Given the description of an element on the screen output the (x, y) to click on. 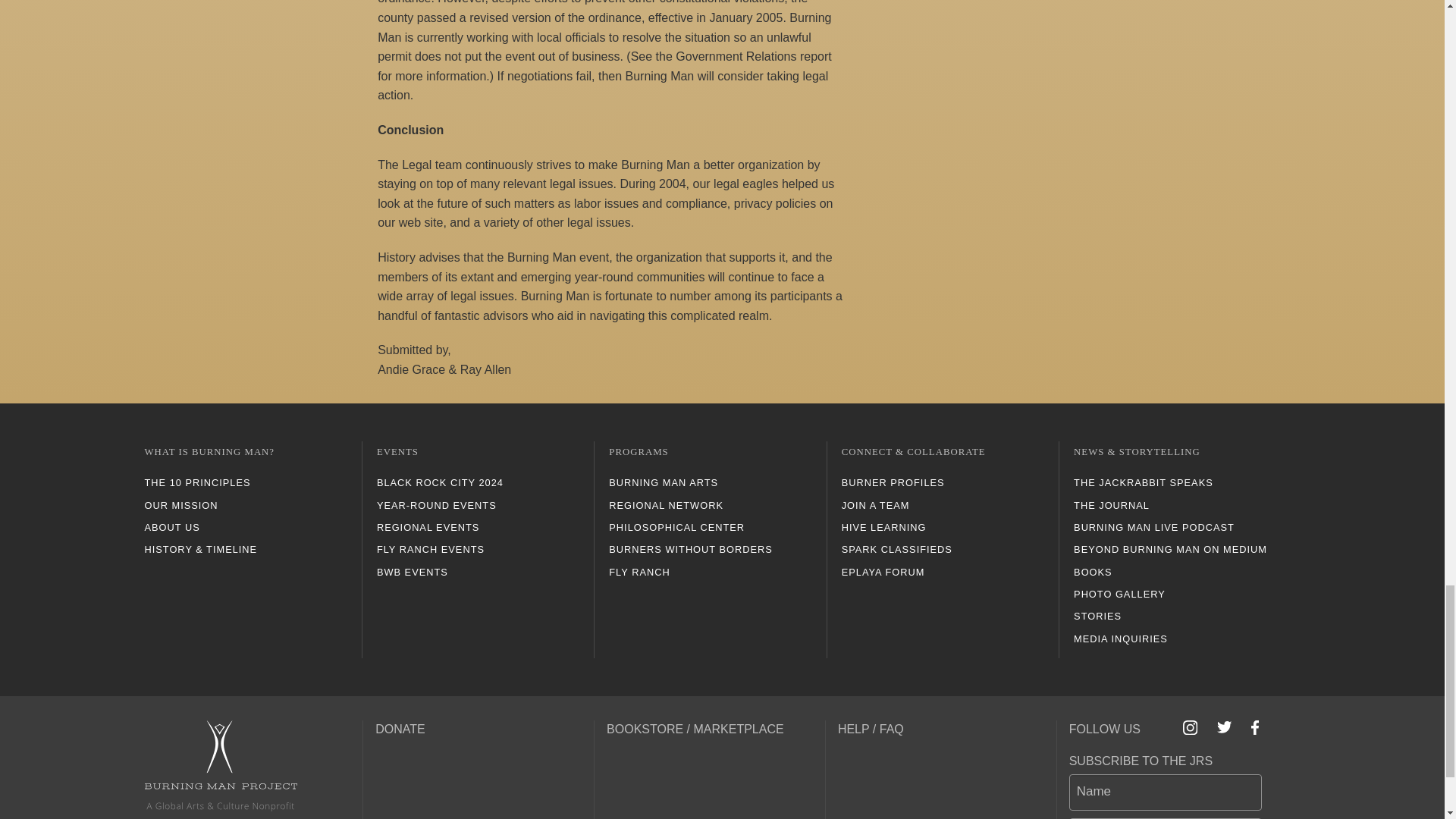
LINK TO BURNING MAN INSTAGRAM (1190, 727)
LINK TO BURNING MAN TWITTER (1224, 727)
